Given the description of an element on the screen output the (x, y) to click on. 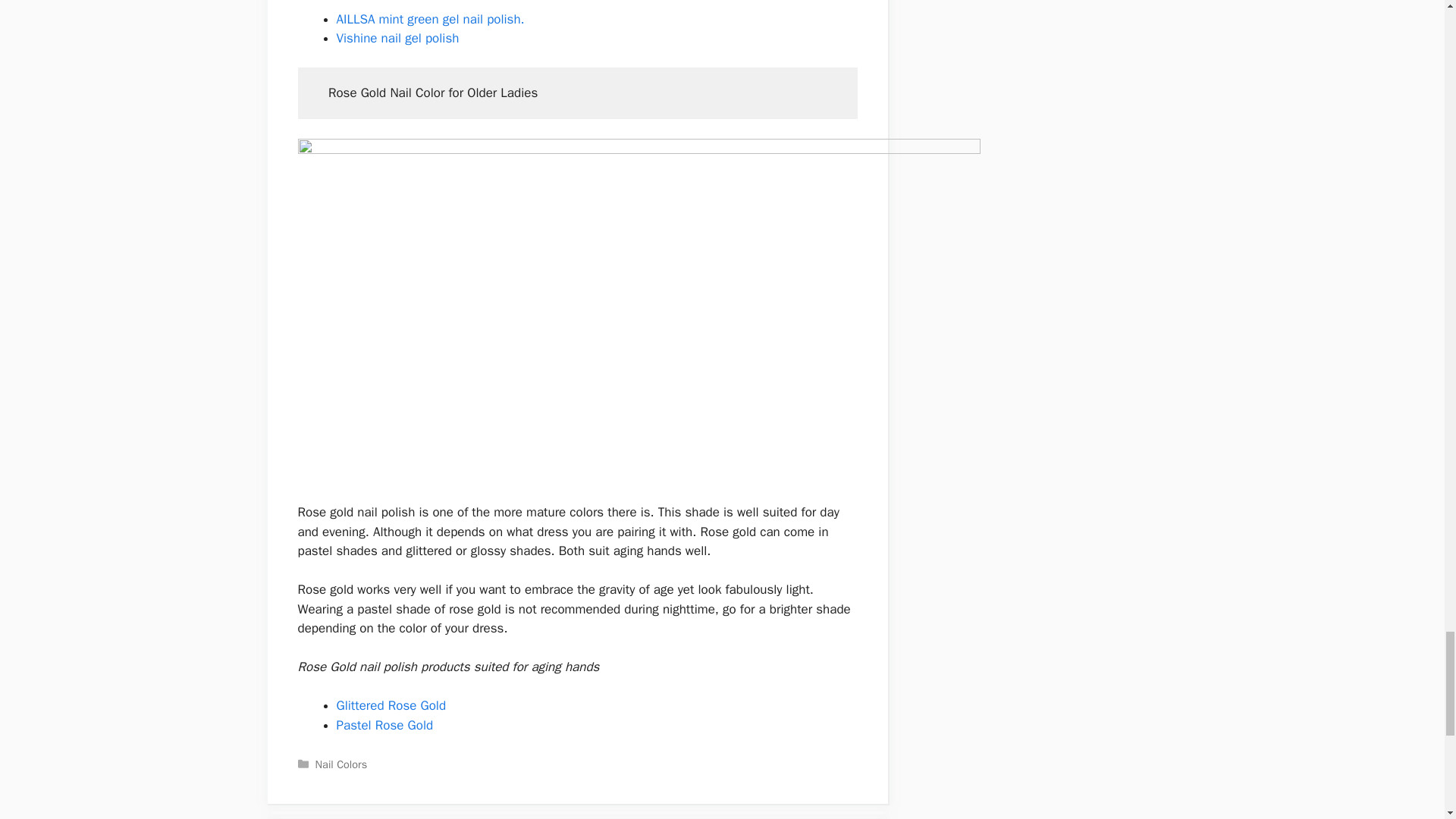
Vishine nail gel polish (398, 37)
Pastel Rose Gold (384, 725)
Glittered Rose Gold (391, 705)
AILLSA mint green gel nail polish.  (432, 19)
Nail Colors (341, 764)
